Given the description of an element on the screen output the (x, y) to click on. 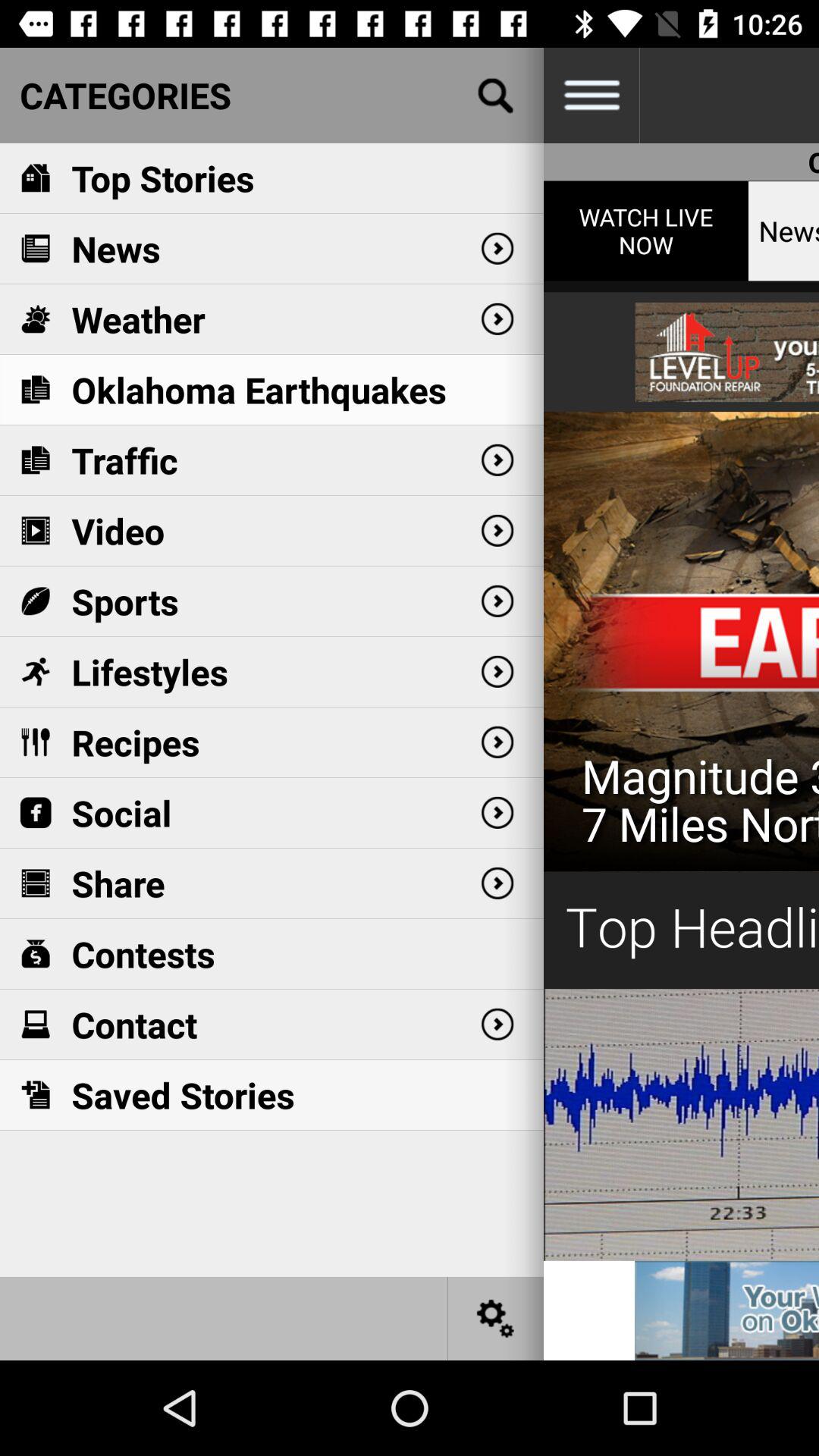
news 9 griffin communications l.l.c (726, 1310)
